Given the description of an element on the screen output the (x, y) to click on. 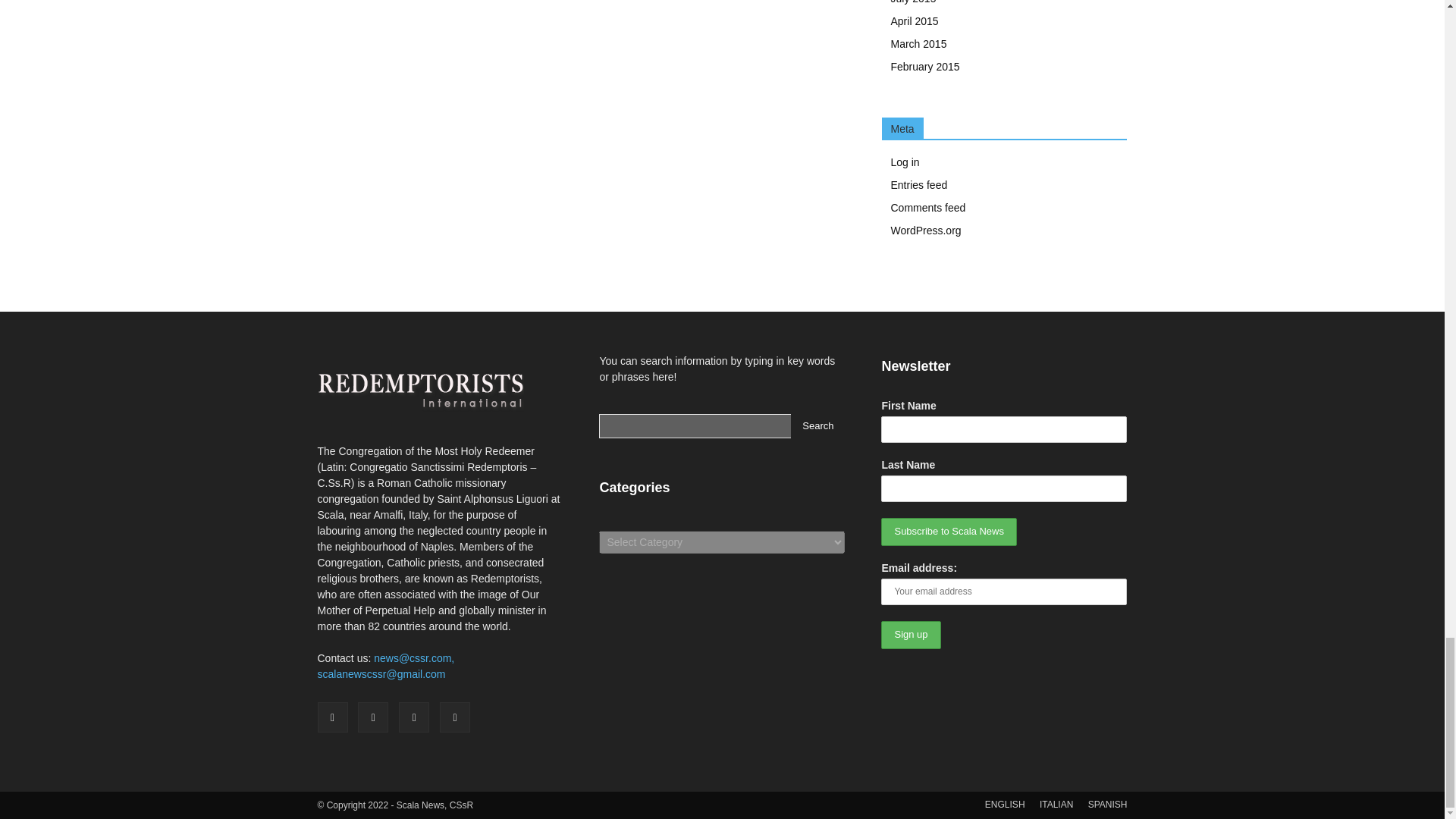
Subscribe to Scala News (948, 531)
Sign up (910, 634)
Search (817, 426)
